Given the description of an element on the screen output the (x, y) to click on. 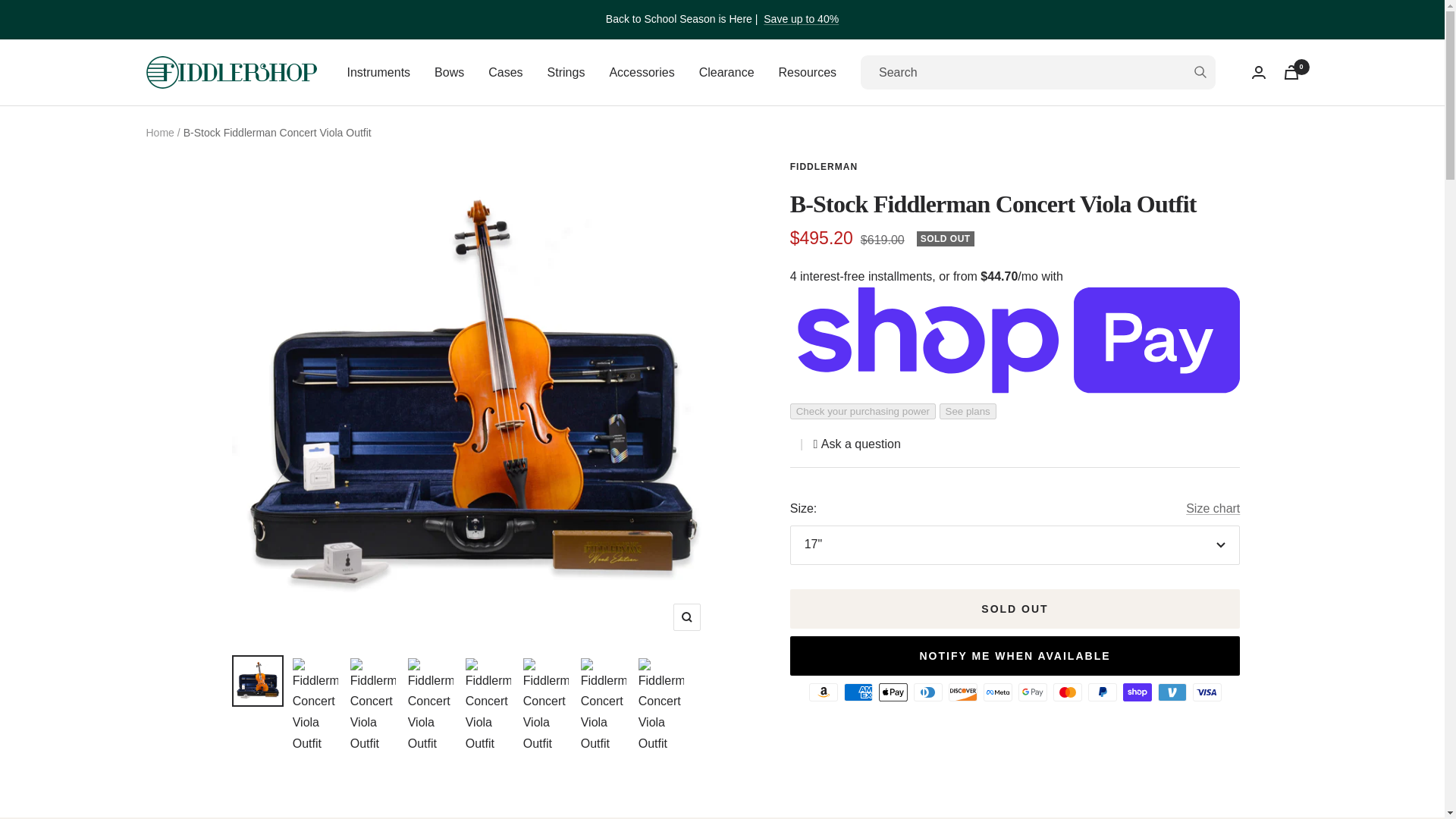
Instruments (378, 72)
Size chart (1213, 508)
0 (1290, 72)
Fiddlershop (230, 72)
Zoom (686, 616)
Accessories (641, 72)
FIDDLERMAN (823, 166)
Strings (566, 72)
Bows (448, 72)
Home (159, 132)
